Given the description of an element on the screen output the (x, y) to click on. 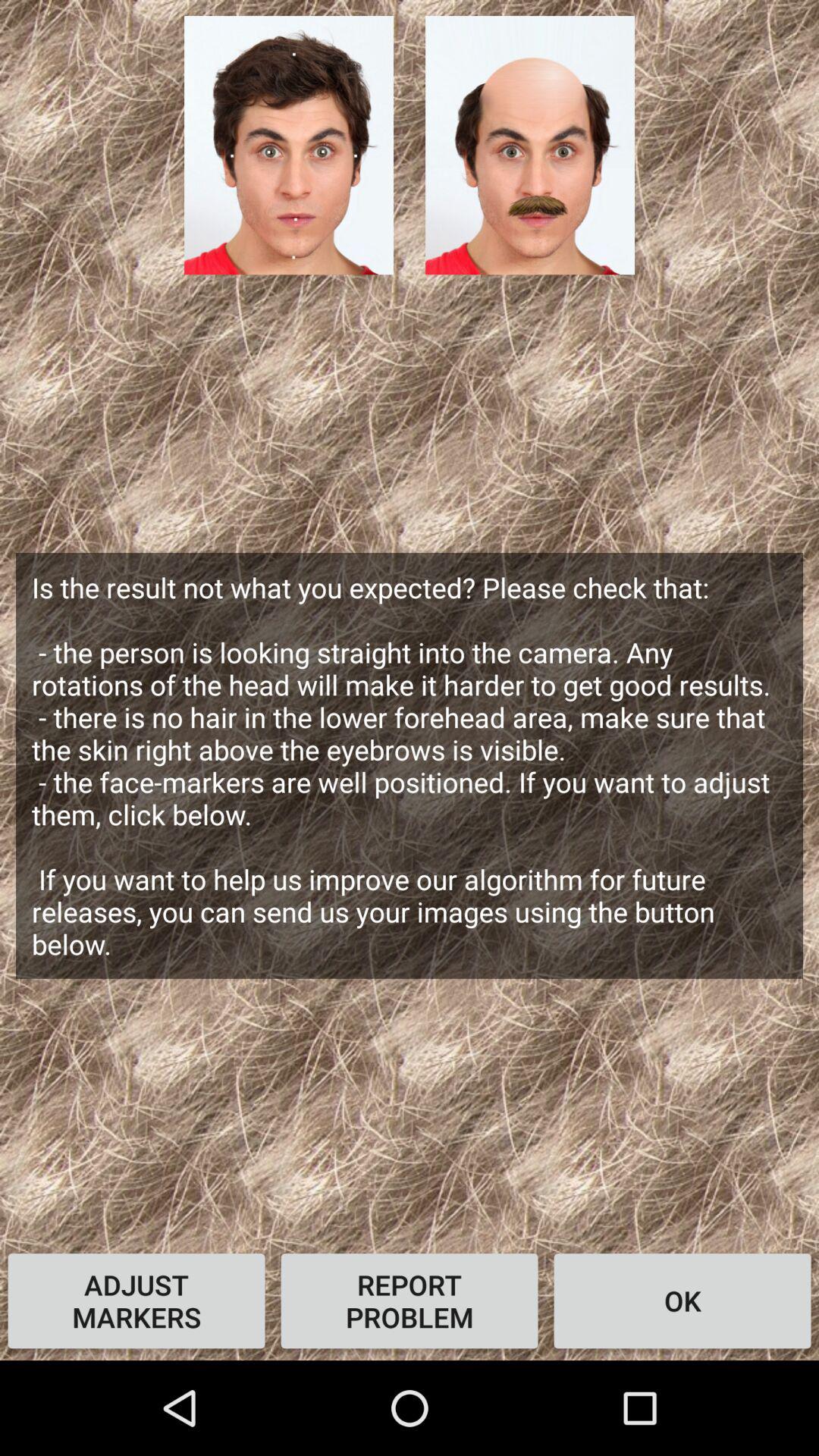
select the item to the left of ok button (409, 1300)
